Given the description of an element on the screen output the (x, y) to click on. 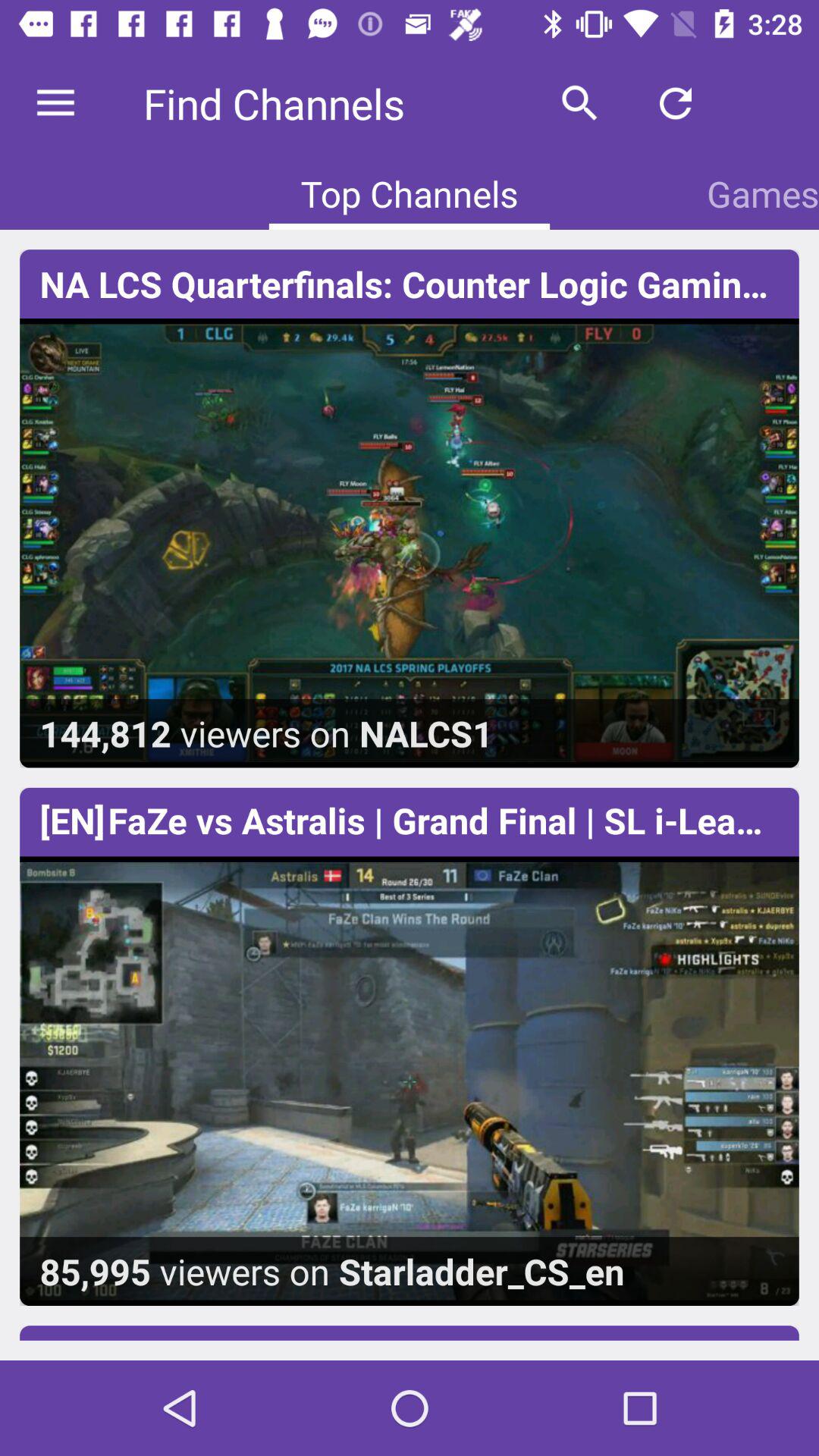
tap the item above games (675, 103)
